Given the description of an element on the screen output the (x, y) to click on. 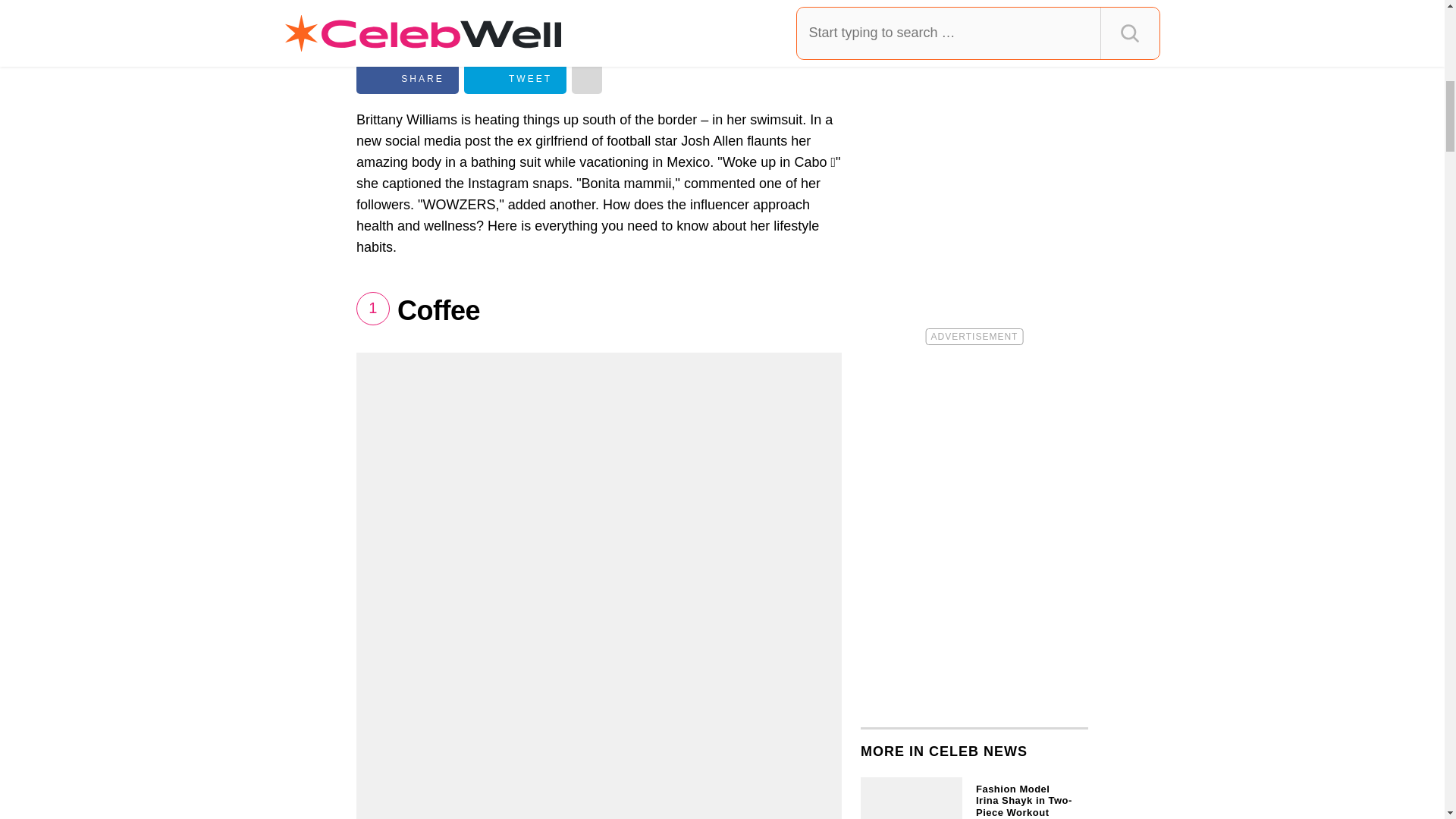
Share via e-mail (587, 78)
Facebook (407, 78)
Share on Twitter (515, 78)
Twitter (515, 78)
Share on Facebook (407, 78)
